Given the description of an element on the screen output the (x, y) to click on. 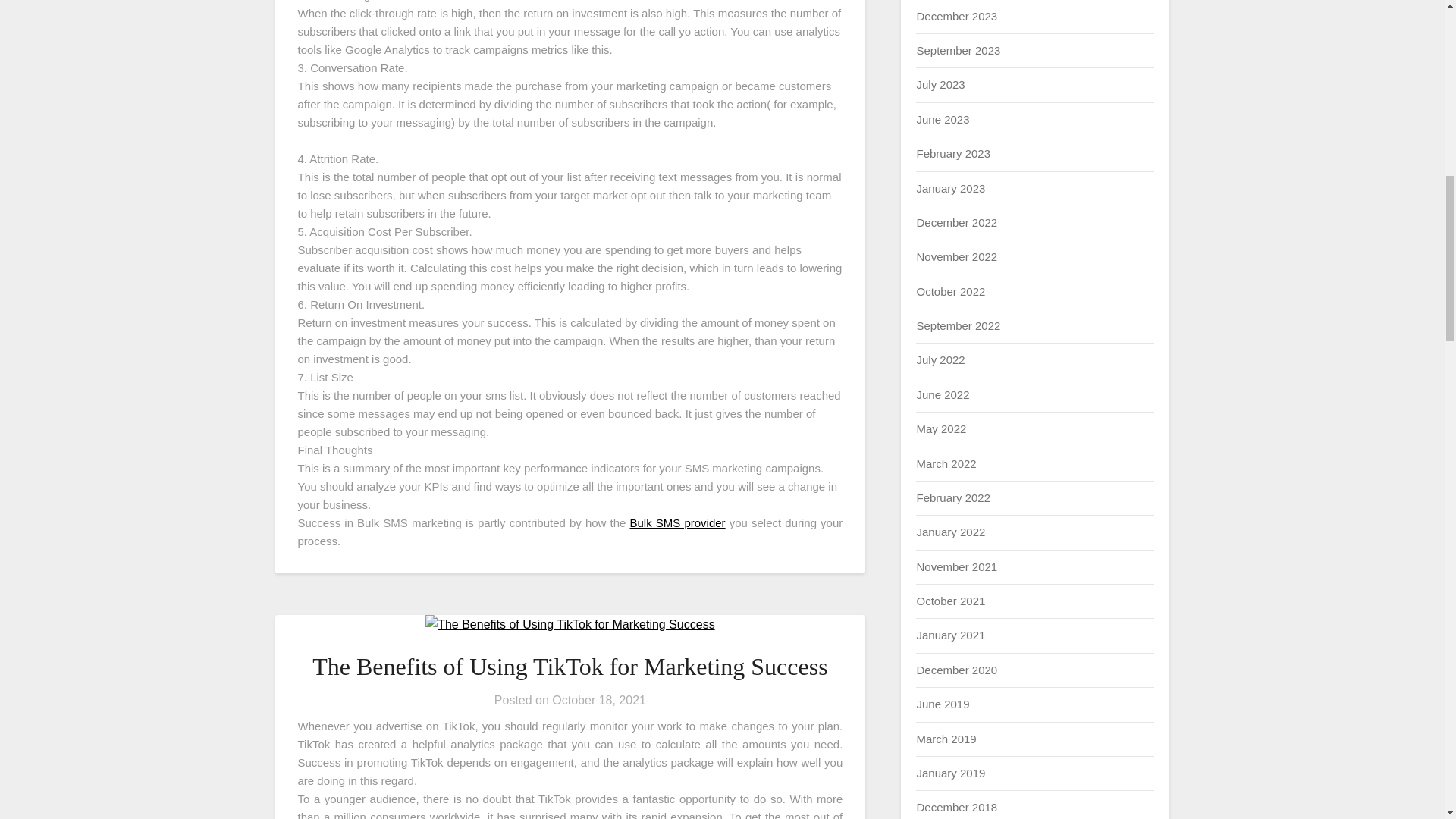
September 2023 (957, 50)
December 2022 (956, 222)
September 2022 (957, 325)
January 2023 (950, 187)
November 2022 (956, 256)
October 18, 2021 (598, 699)
July 2023 (939, 83)
February 2023 (952, 153)
Bulk SMS provider (677, 522)
The Benefits of Using TikTok for Marketing Success (570, 666)
June 2023 (942, 119)
December 2023 (956, 15)
October 2022 (950, 291)
